Given the description of an element on the screen output the (x, y) to click on. 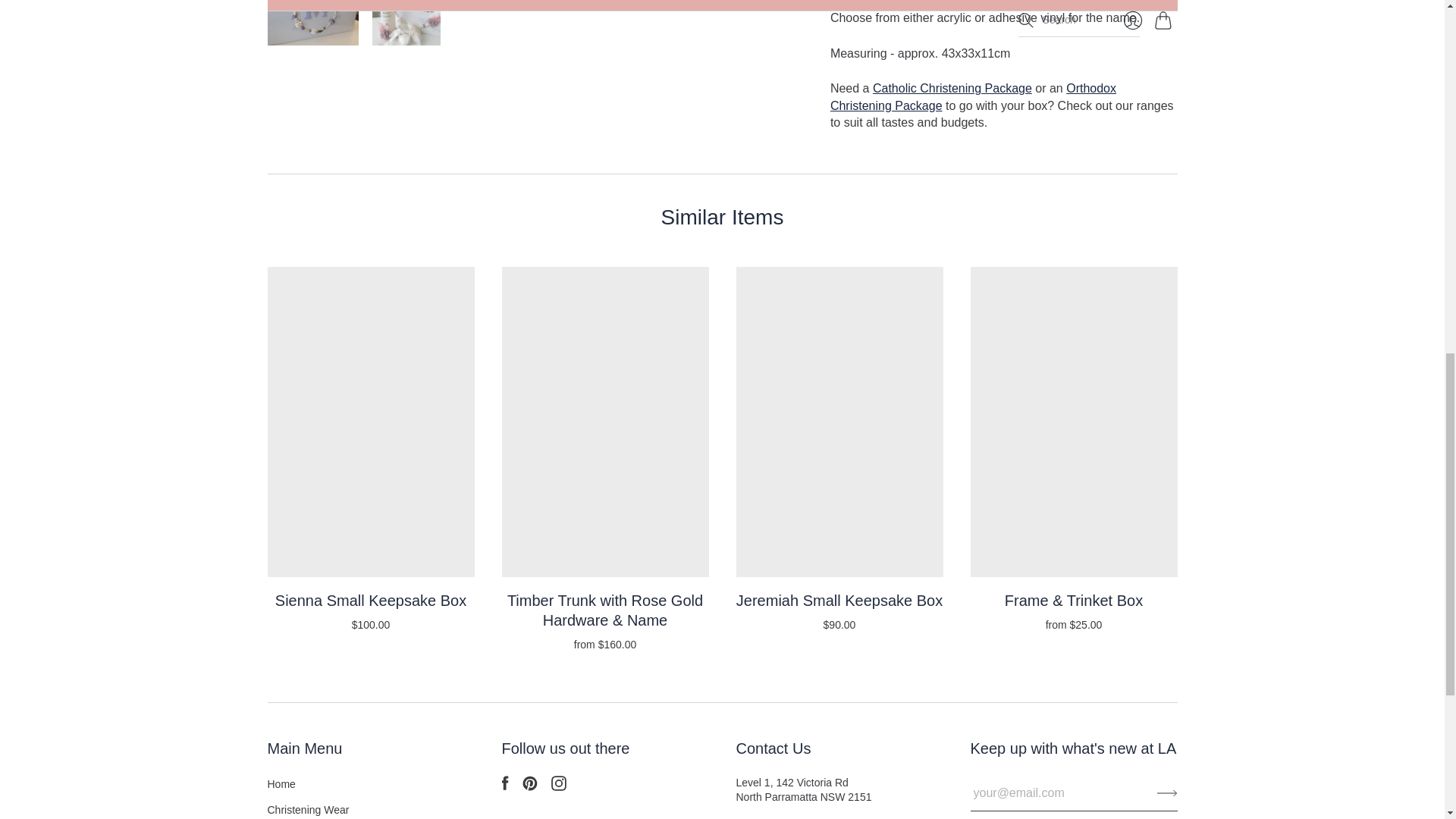
Orthodox Christening Packages (972, 96)
Catholic Christening Packages (952, 88)
